Given the description of an element on the screen output the (x, y) to click on. 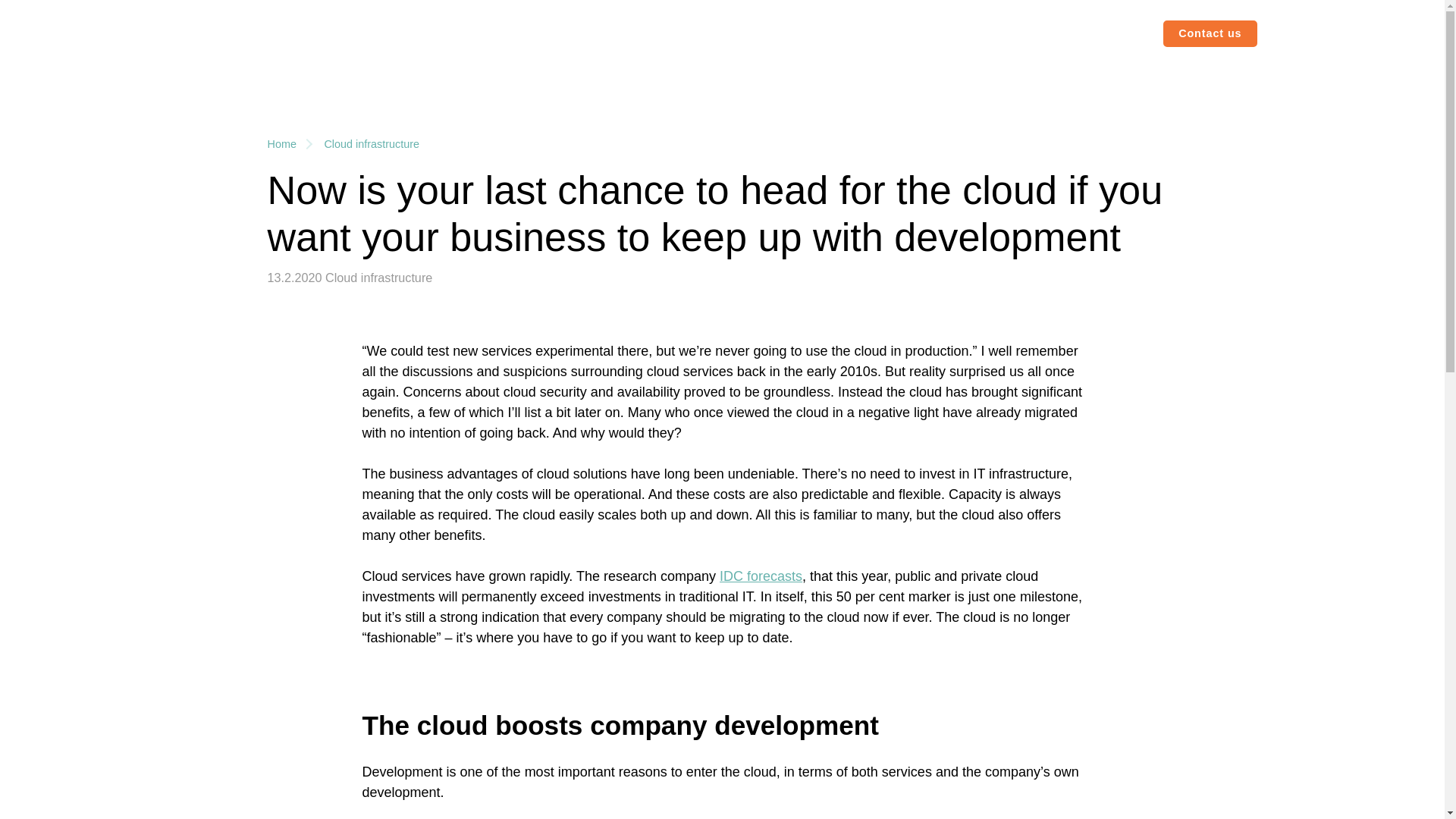
Home (280, 143)
Services (218, 33)
Sulava (85, 33)
